Given the description of an element on the screen output the (x, y) to click on. 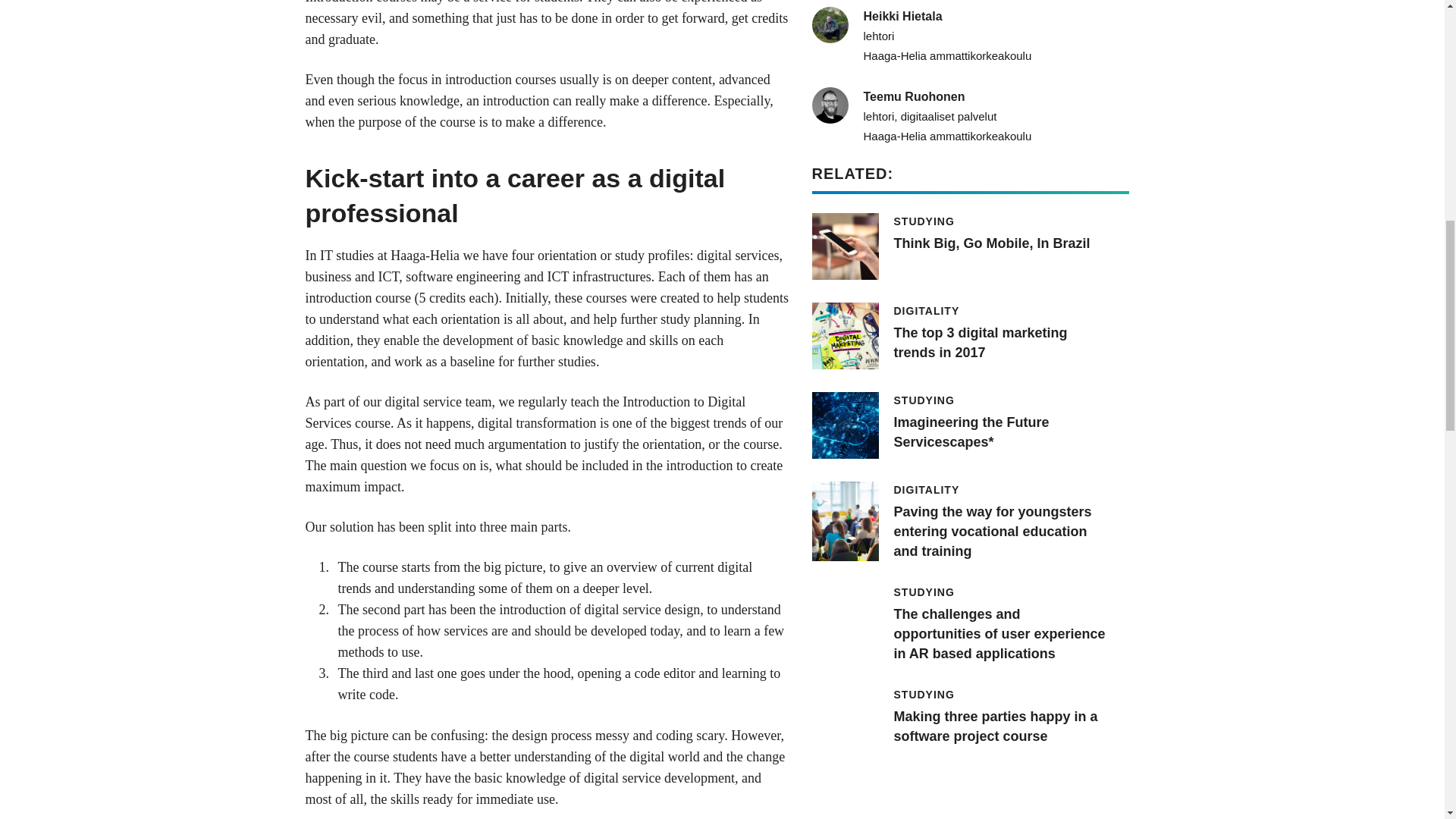
Teemu Ruohonen (969, 246)
Heikki Hietala (969, 335)
